Given the description of an element on the screen output the (x, y) to click on. 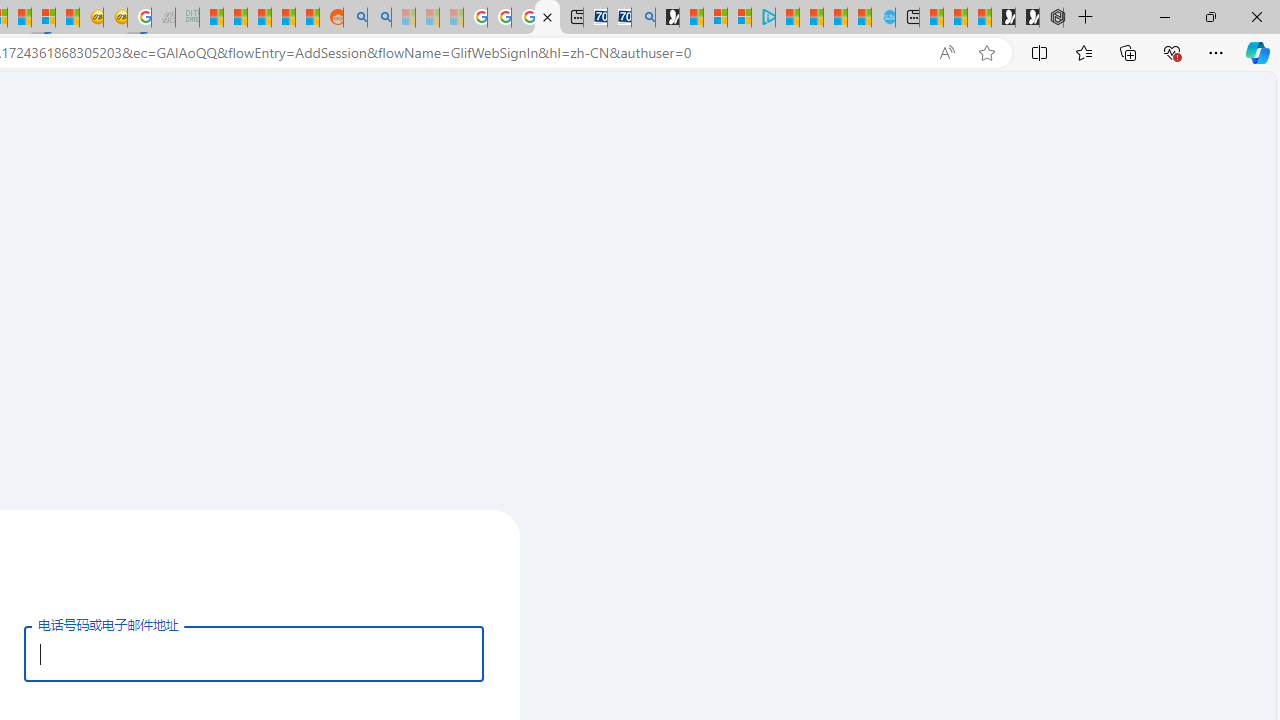
Utah sues federal government - Search (378, 17)
Home | Sky Blue Bikes - Sky Blue Bikes (882, 17)
Play Free Online Games | Games from Microsoft Start (1027, 17)
